Given the description of an element on the screen output the (x, y) to click on. 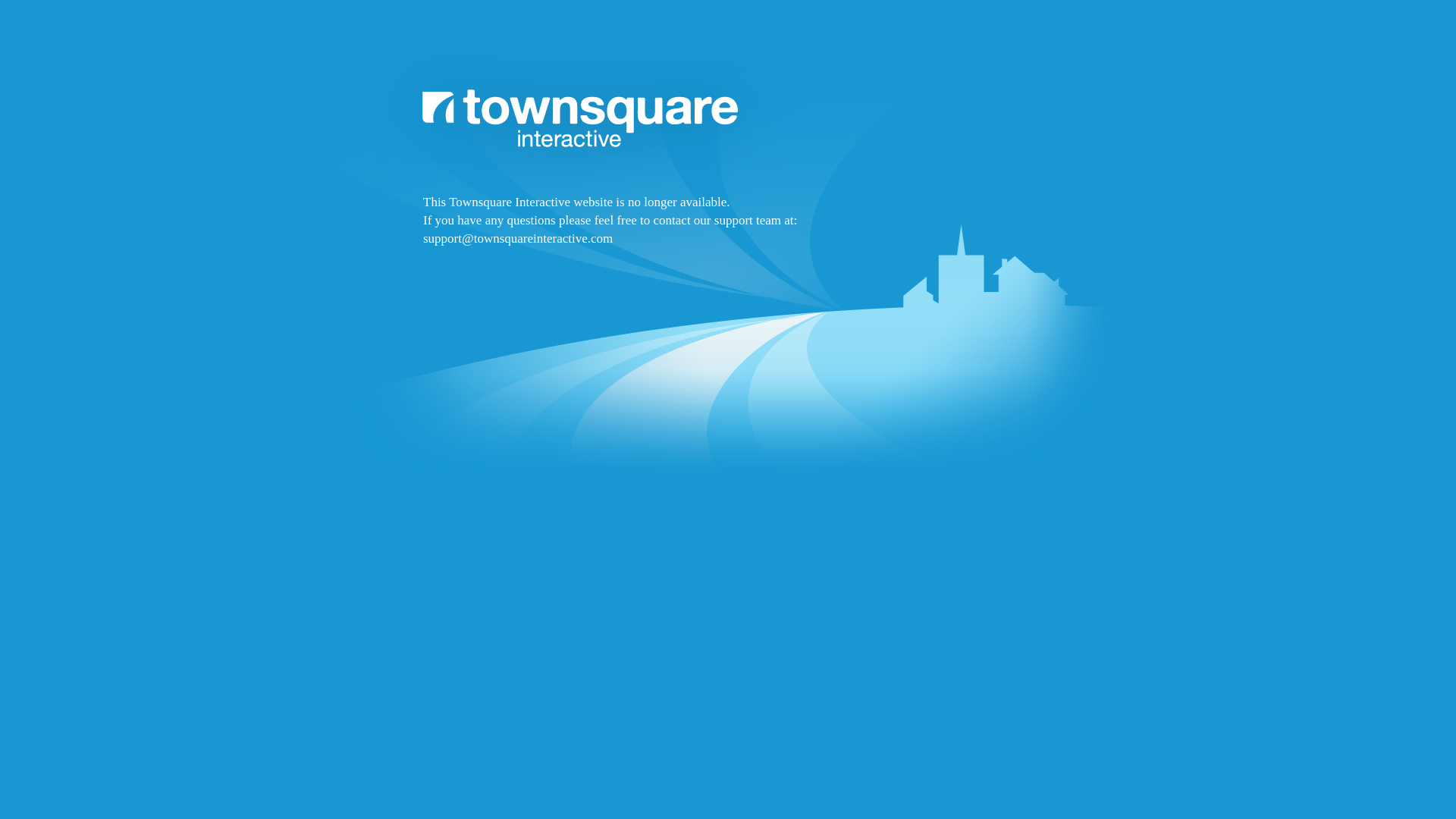
Townsquare Interactive Element type: hover (727, 297)
